Given the description of an element on the screen output the (x, y) to click on. 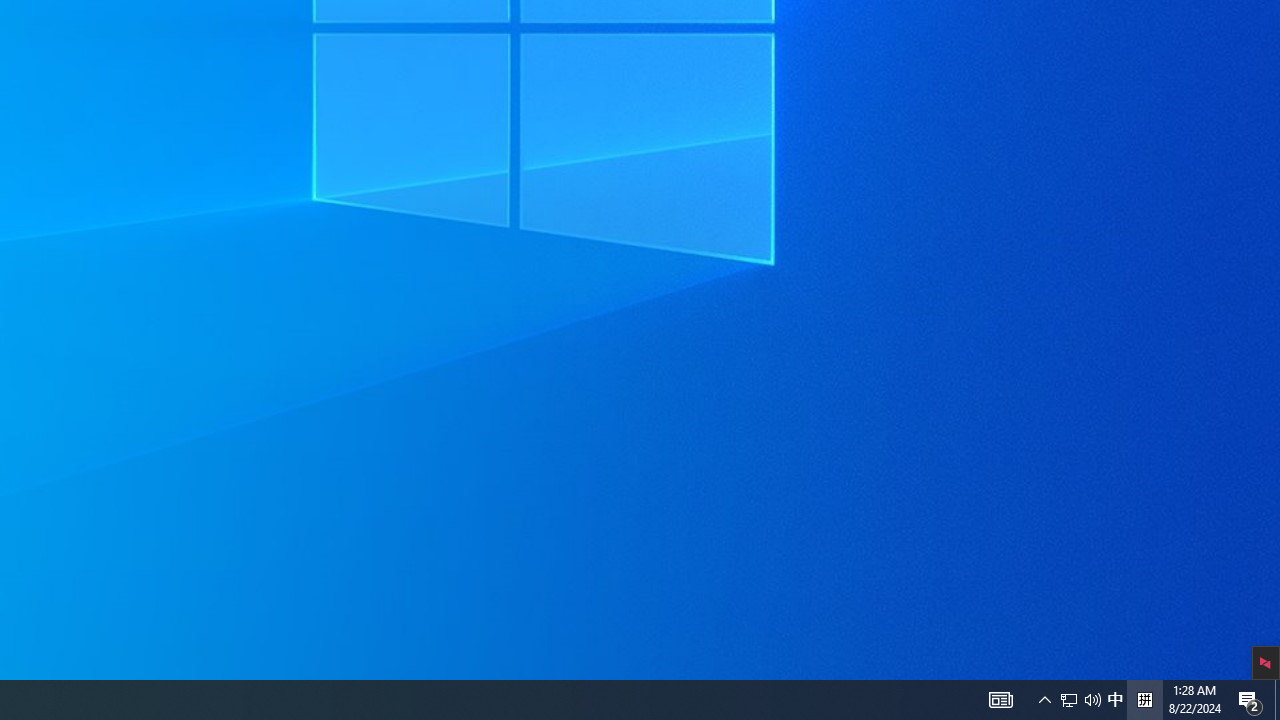
User Promoted Notification Area (1080, 699)
Notification Chevron (1044, 699)
Action Center, 2 new notifications (1250, 699)
AutomationID: 4105 (1000, 699)
Tray Input Indicator - Chinese (Simplified, China) (1115, 699)
Show desktop (1144, 699)
Q2790: 100% (1277, 699)
